Given the description of an element on the screen output the (x, y) to click on. 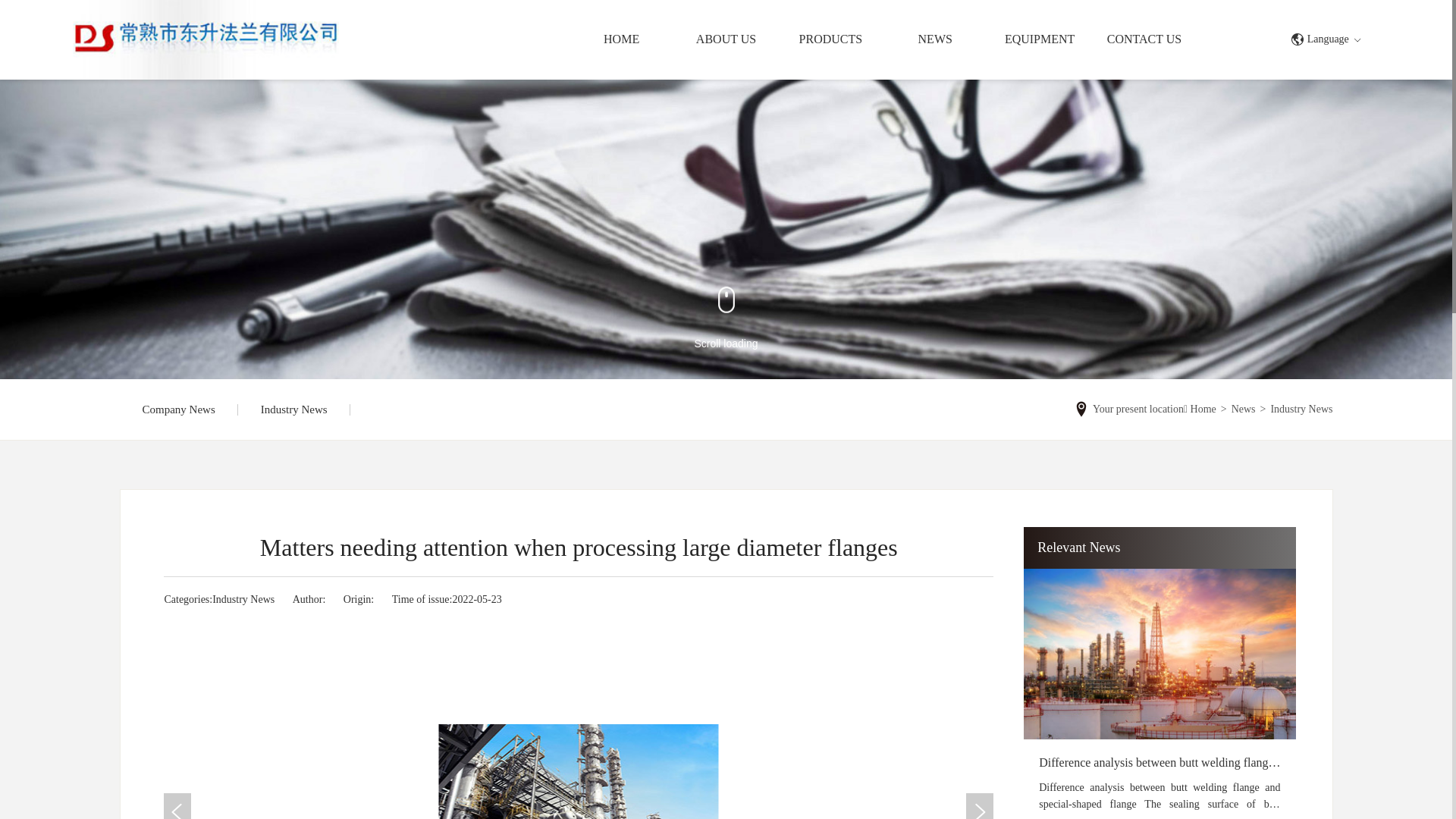
CONTACT US Element type: text (1144, 39)
Industry News Element type: text (294, 409)
Industry News Element type: text (1301, 408)
HOME Element type: text (621, 39)
EQUIPMENT Element type: text (1039, 39)
PRODUCTS Element type: text (830, 39)
Company News Element type: text (178, 409)
NEWS Element type: text (934, 39)
Home Element type: text (1203, 408)
News Element type: text (1243, 408)
ABOUT US Element type: text (726, 39)
Industry News Element type: text (243, 599)
